Given the description of an element on the screen output the (x, y) to click on. 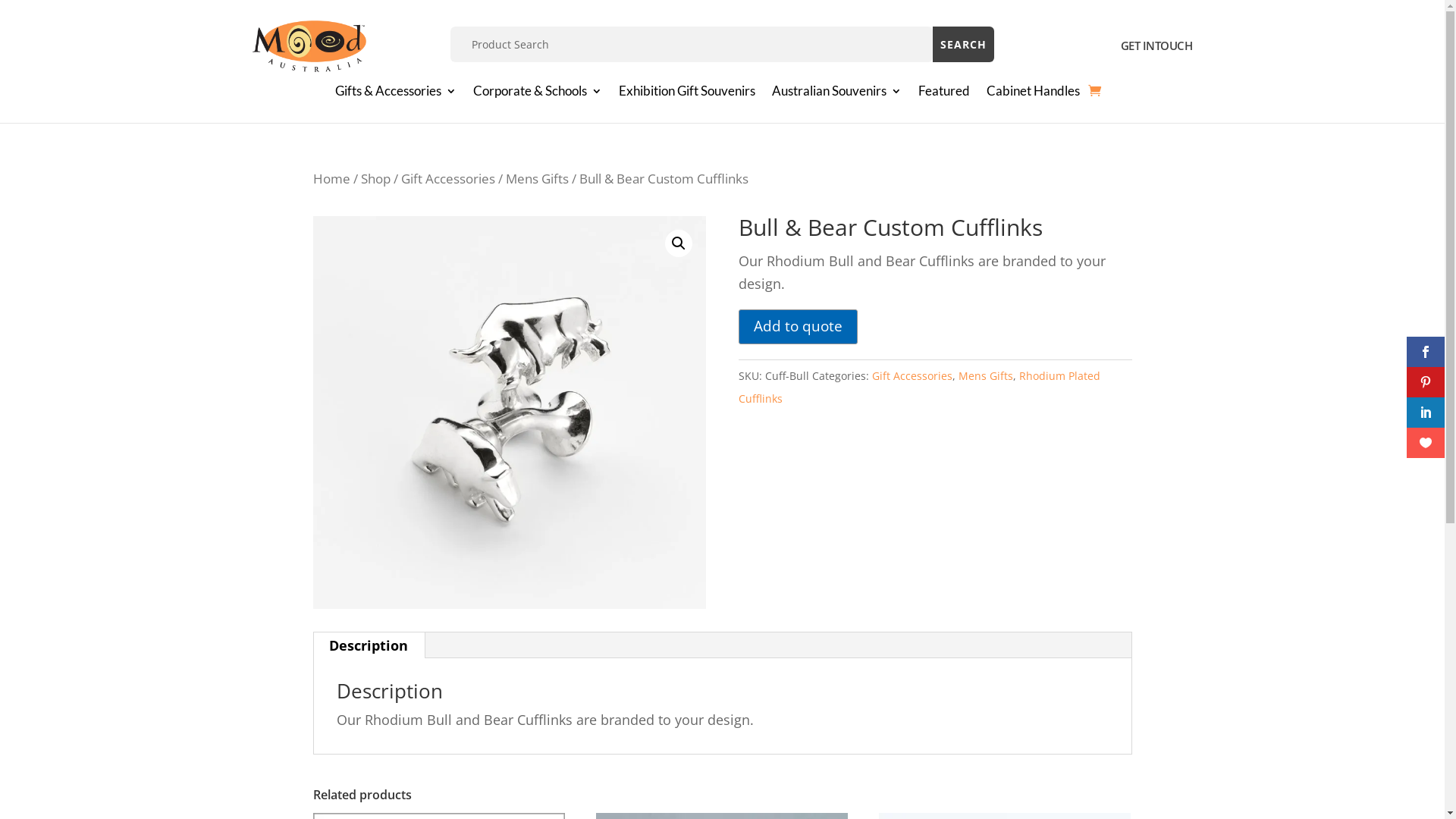
Gifts & Accessories Element type: text (395, 93)
Rhodium Plated Cufflinks Element type: text (919, 387)
Description Element type: text (368, 645)
Gift Accessories Element type: text (912, 375)
Mens Gifts Element type: text (536, 178)
Mens Gifts Element type: text (985, 375)
Add to quote Element type: text (797, 326)
Gift Accessories Element type: text (447, 178)
Featured Element type: text (943, 93)
Corporate & Schools Element type: text (537, 93)
Australian Souvenirs Element type: text (836, 93)
mood logo rgb 3 colour Element type: hover (308, 46)
Search Element type: text (963, 44)
Cabinet Handles Element type: text (1032, 93)
Shop Element type: text (375, 178)
Exhibition Gift Souvenirs Element type: text (686, 93)
Home Element type: text (330, 178)
Cufflinks 10 Element type: hover (508, 411)
